Given the description of an element on the screen output the (x, y) to click on. 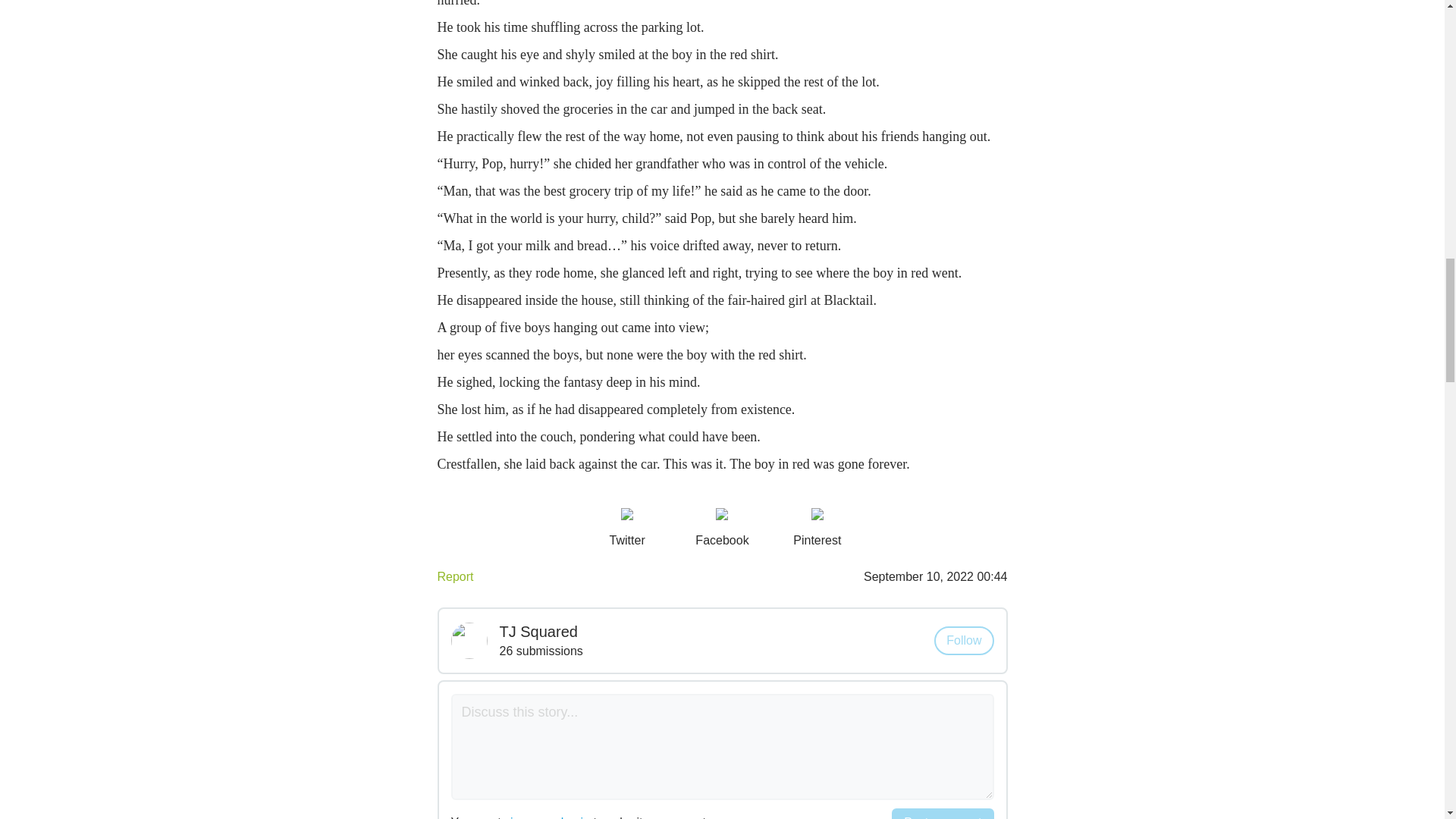
Post comment (941, 813)
